Given the description of an element on the screen output the (x, y) to click on. 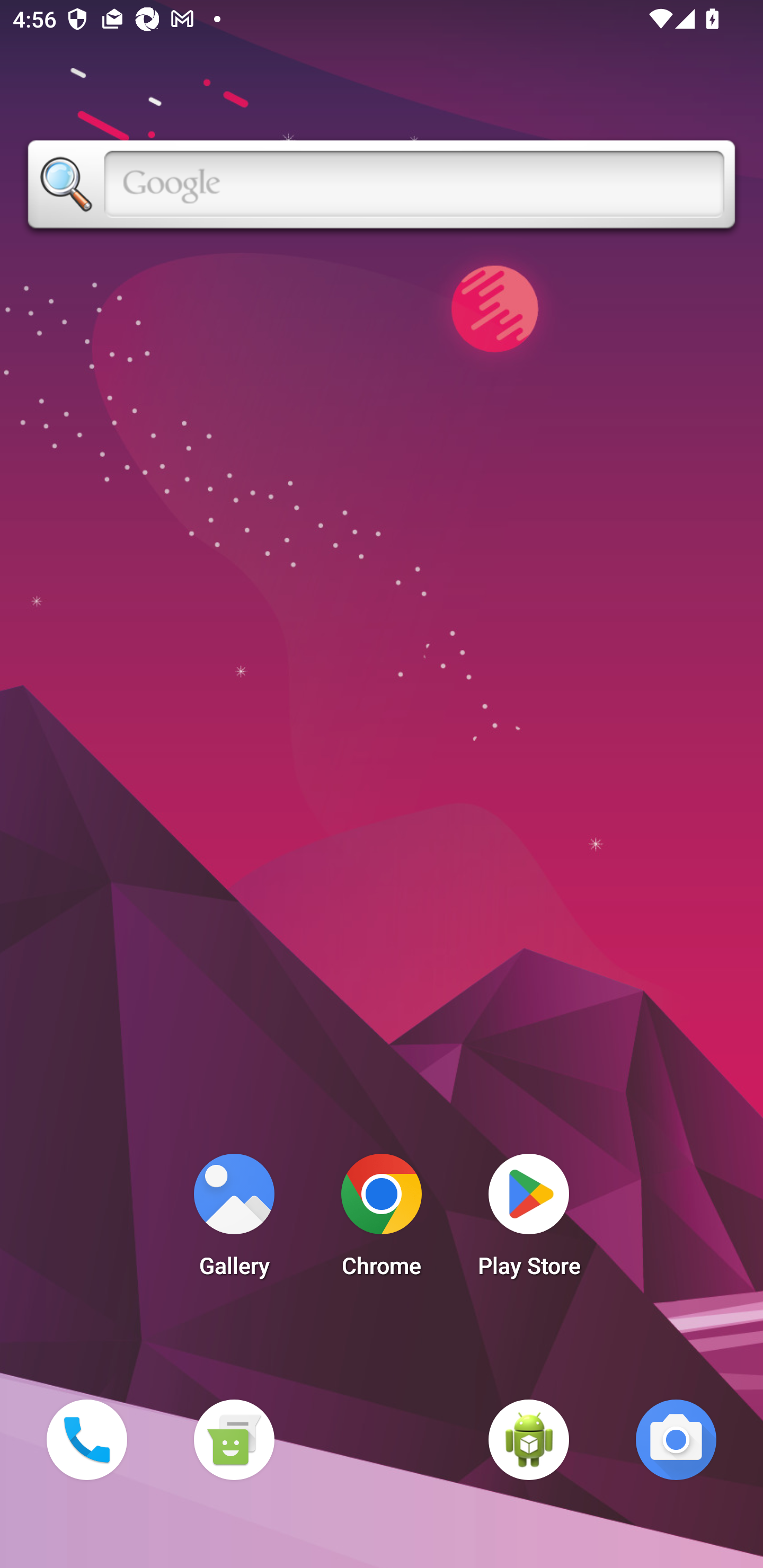
Gallery (233, 1220)
Chrome (381, 1220)
Play Store (528, 1220)
Phone (86, 1439)
Messaging (233, 1439)
WebView Browser Tester (528, 1439)
Camera (676, 1439)
